Given the description of an element on the screen output the (x, y) to click on. 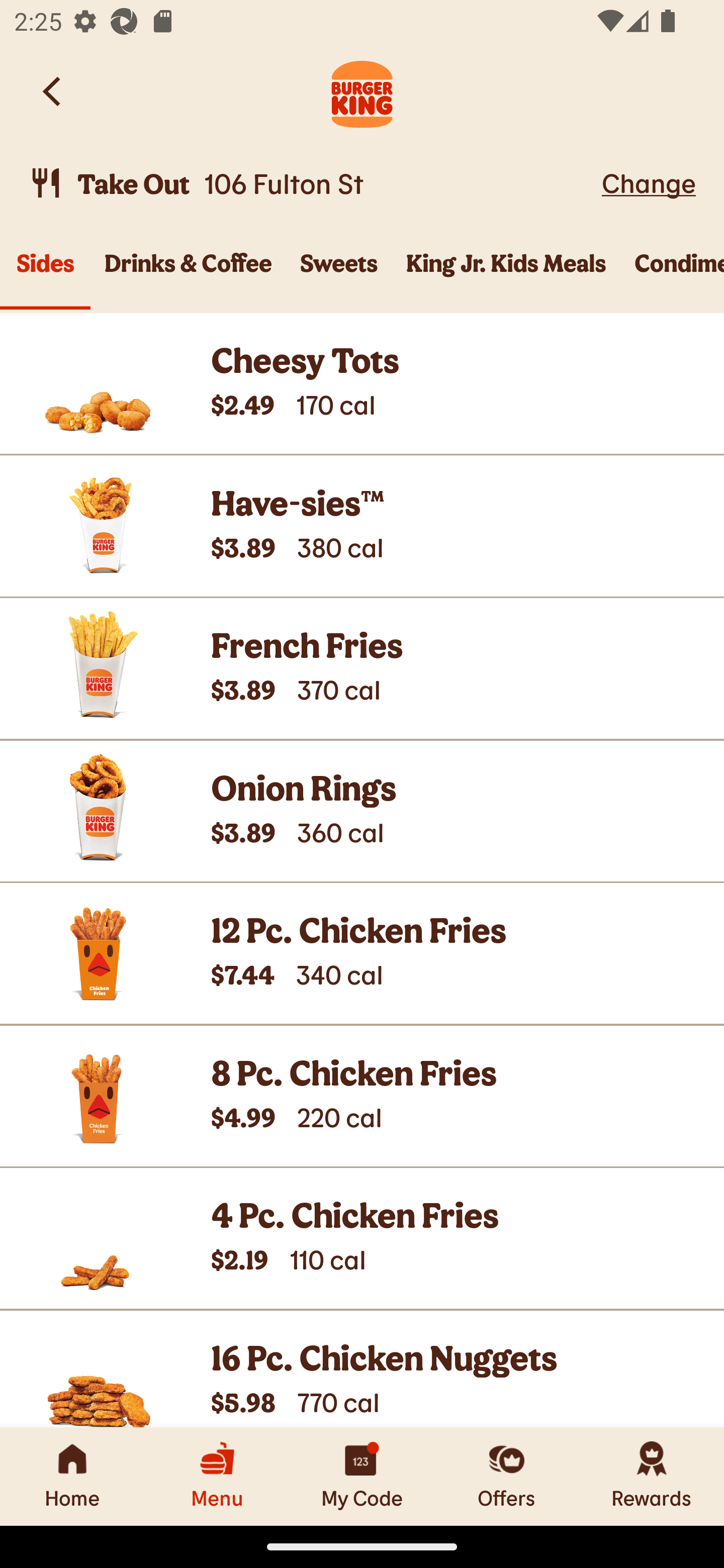
Burger King Logo. Navigate to Home (362, 91)
Back (52, 91)
Take Out, 106 Fulton St  Take Out 106 Fulton St (311, 183)
Change (648, 182)
Sides (45, 273)
Drinks & Coffee (187, 273)
Sweets (338, 273)
King Jr. Kids Meals (506, 273)
Condiments (672, 273)
Home (72, 1475)
Menu (216, 1475)
My Code (361, 1475)
Offers (506, 1475)
Rewards (651, 1475)
